Given the description of an element on the screen output the (x, y) to click on. 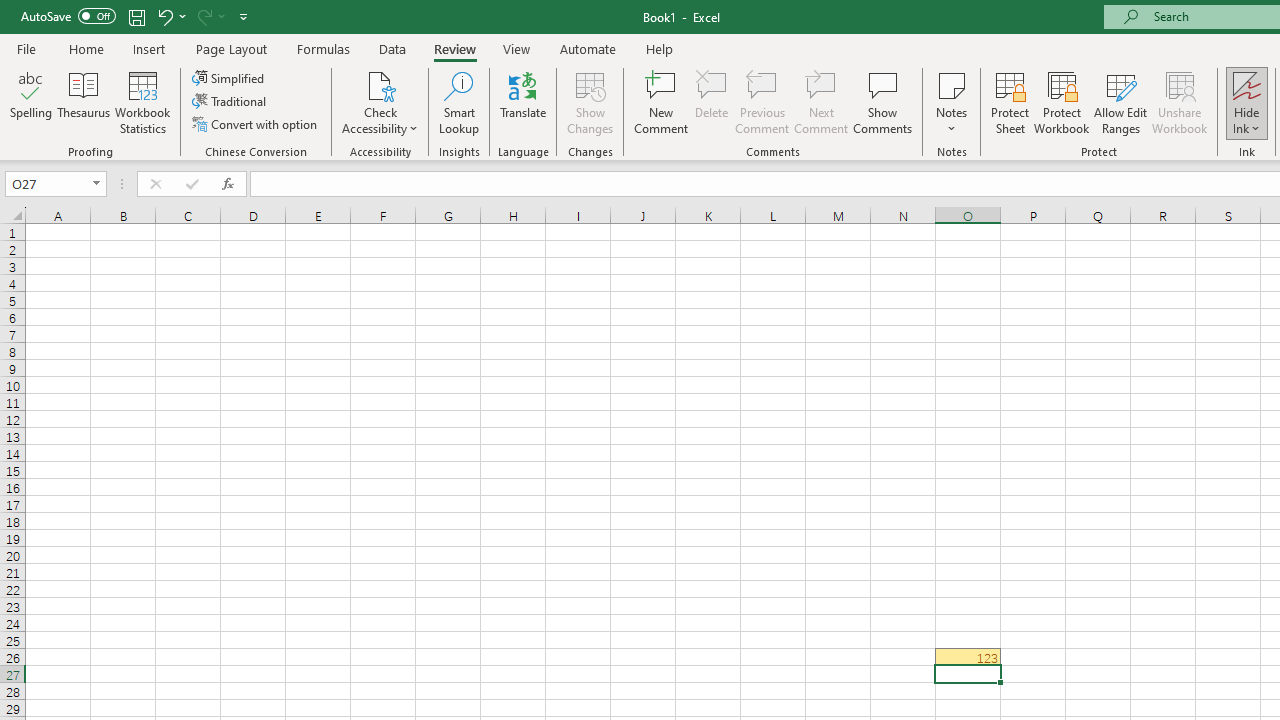
Previous Comment (762, 102)
Traditional (230, 101)
Notes (951, 102)
Protect Workbook... (1061, 102)
Smart Lookup (459, 102)
Workbook Statistics (142, 102)
Hide Ink (1247, 102)
Translate (523, 102)
Check Accessibility (380, 84)
